Given the description of an element on the screen output the (x, y) to click on. 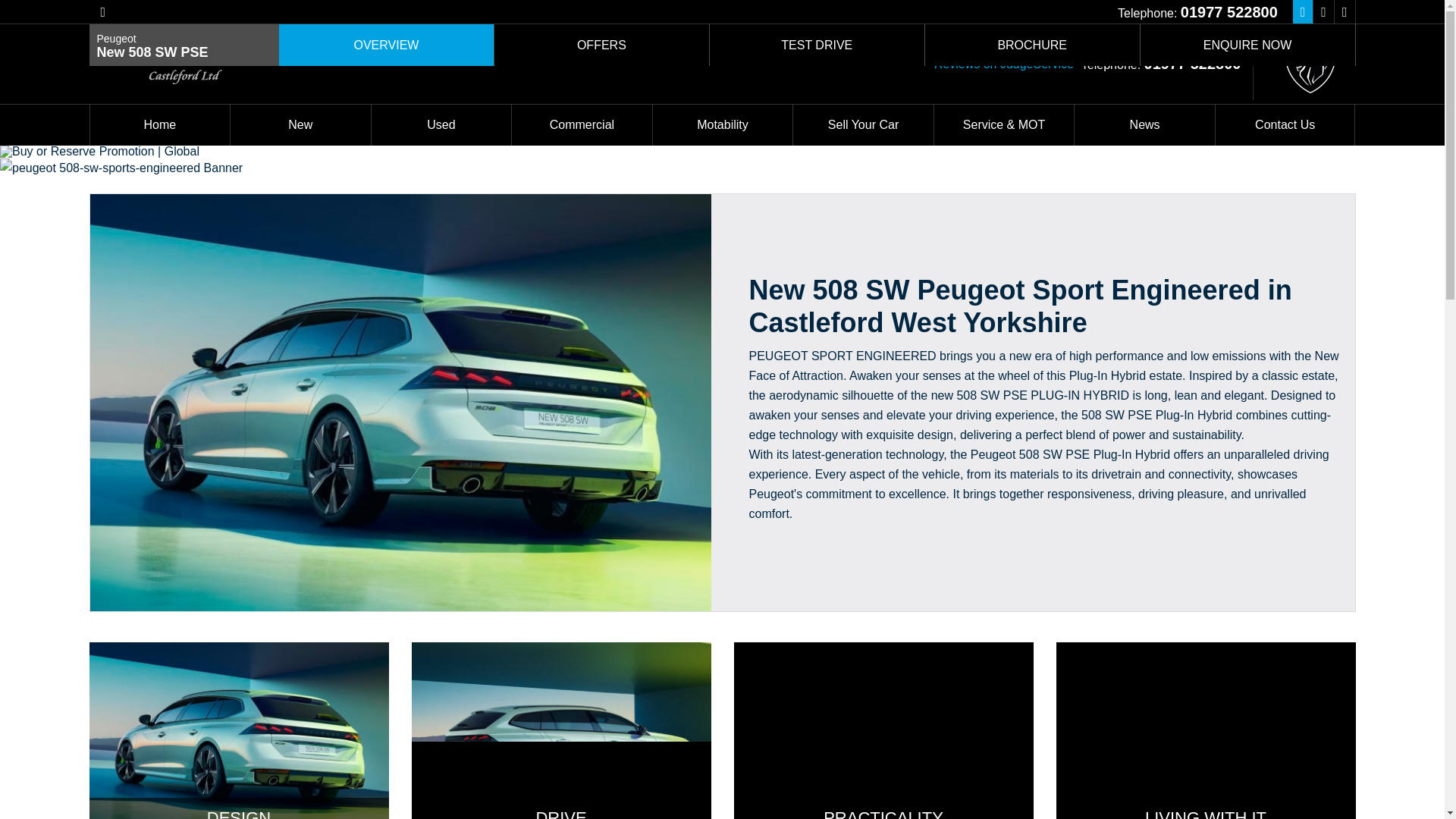
OFFERS (602, 45)
New (300, 124)
TEST DRIVE (817, 45)
Motability (722, 124)
Reviews on JudgeService (1004, 63)
Reviews on JudgeService (1004, 63)
Home (159, 124)
Sell Your Car (863, 124)
Contact Us (1285, 124)
BROCHURE (1032, 45)
